Given the description of an element on the screen output the (x, y) to click on. 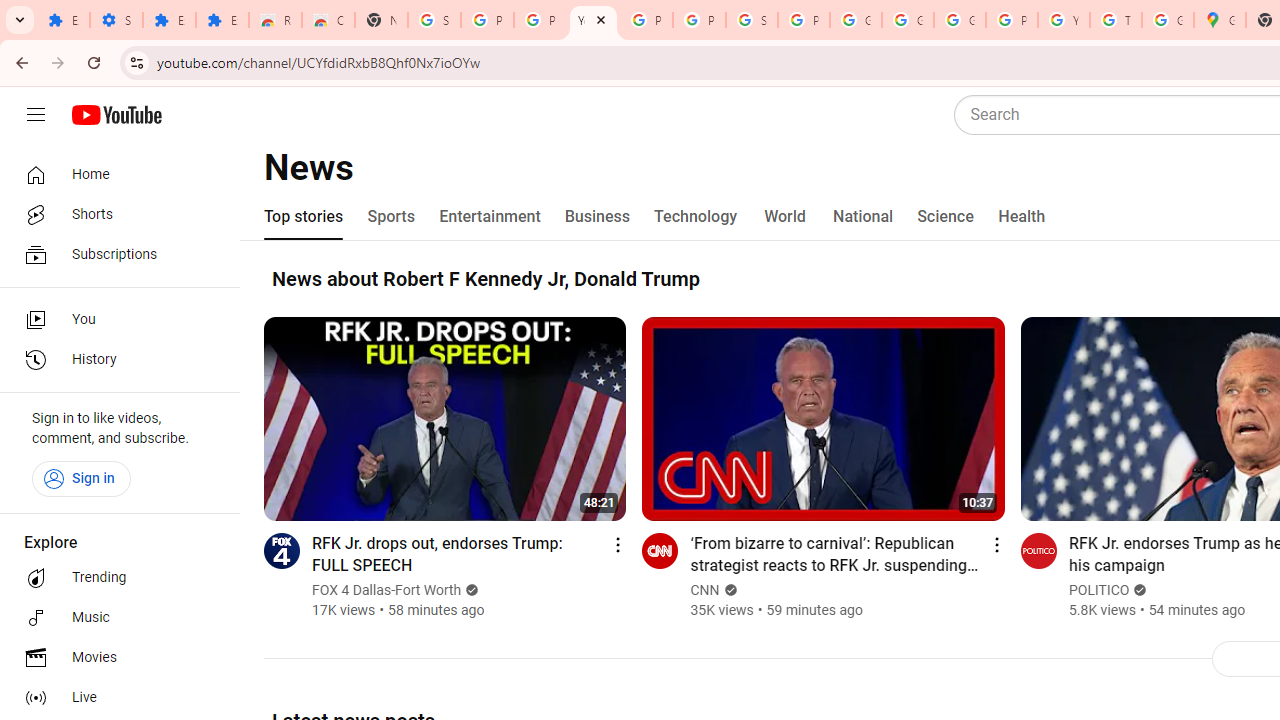
Entertainment (490, 216)
Top stories (303, 216)
Movies (113, 657)
Sign in - Google Accounts (434, 20)
Health (1021, 216)
Go to channel (1038, 550)
YouTube Home (116, 115)
